Given the description of an element on the screen output the (x, y) to click on. 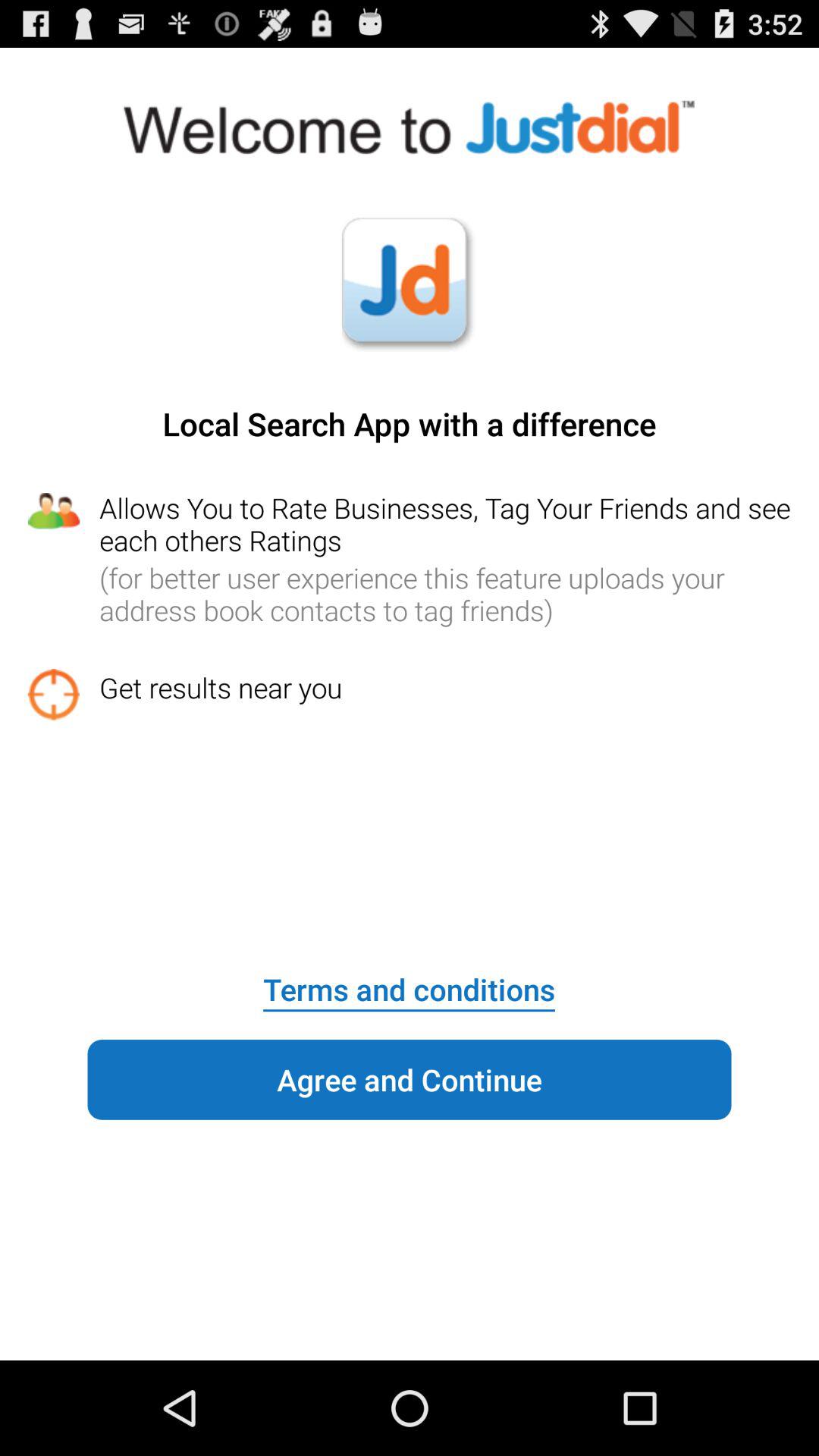
select terms and conditions (409, 979)
